Given the description of an element on the screen output the (x, y) to click on. 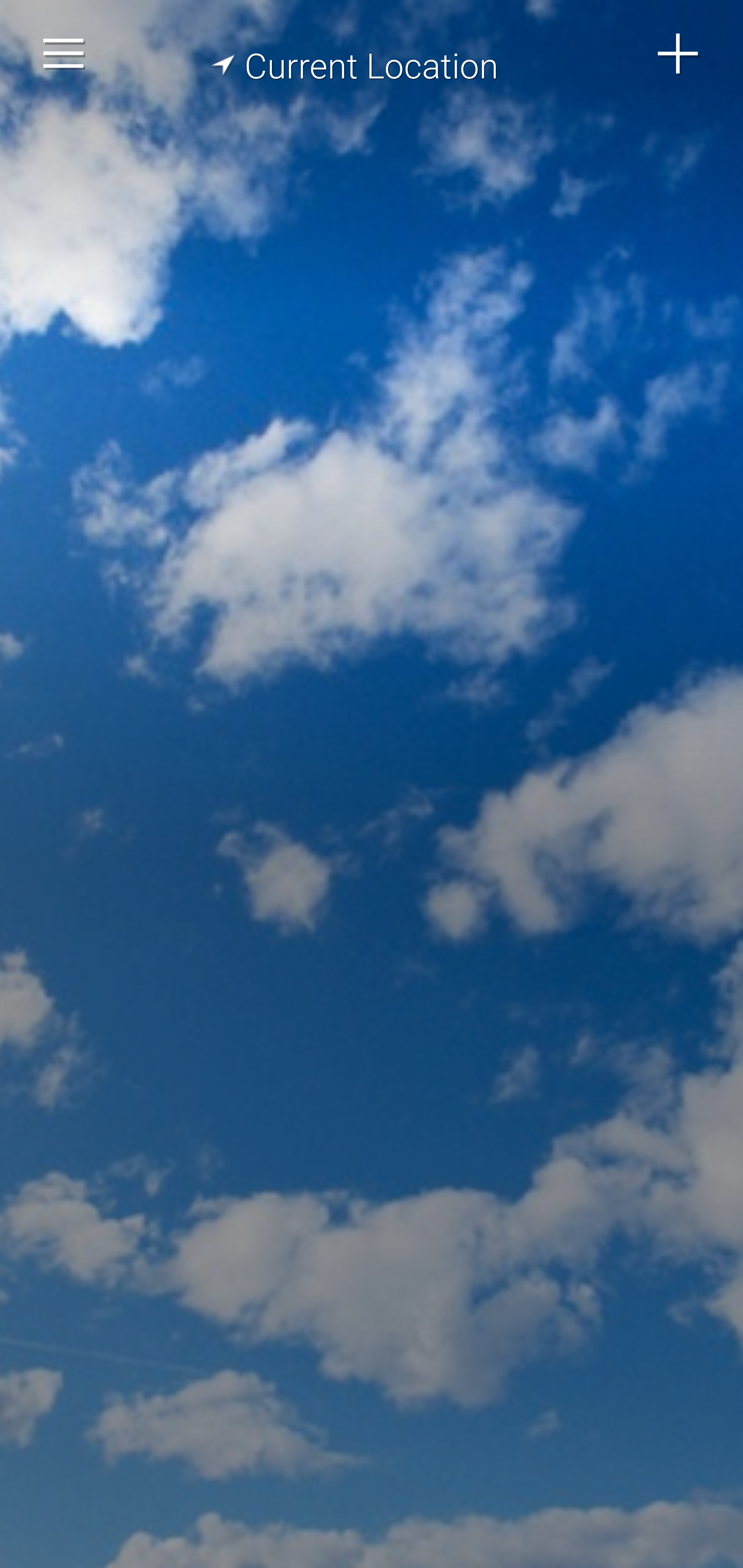
Sidebar (64, 54)
Add City (678, 53)
